Given the description of an element on the screen output the (x, y) to click on. 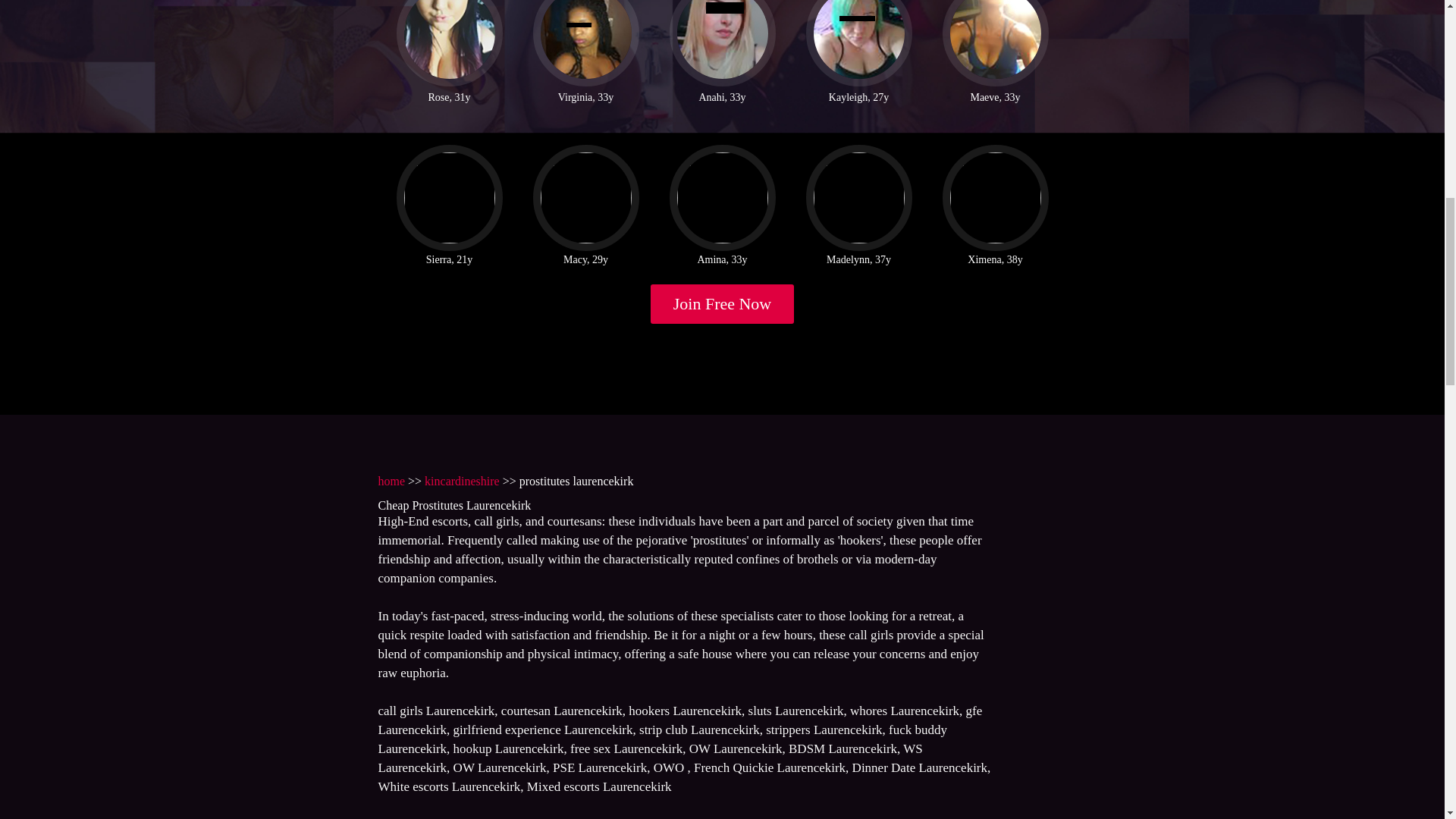
Join Free Now (722, 303)
Join (722, 303)
home (390, 481)
kincardineshire (462, 481)
